Given the description of an element on the screen output the (x, y) to click on. 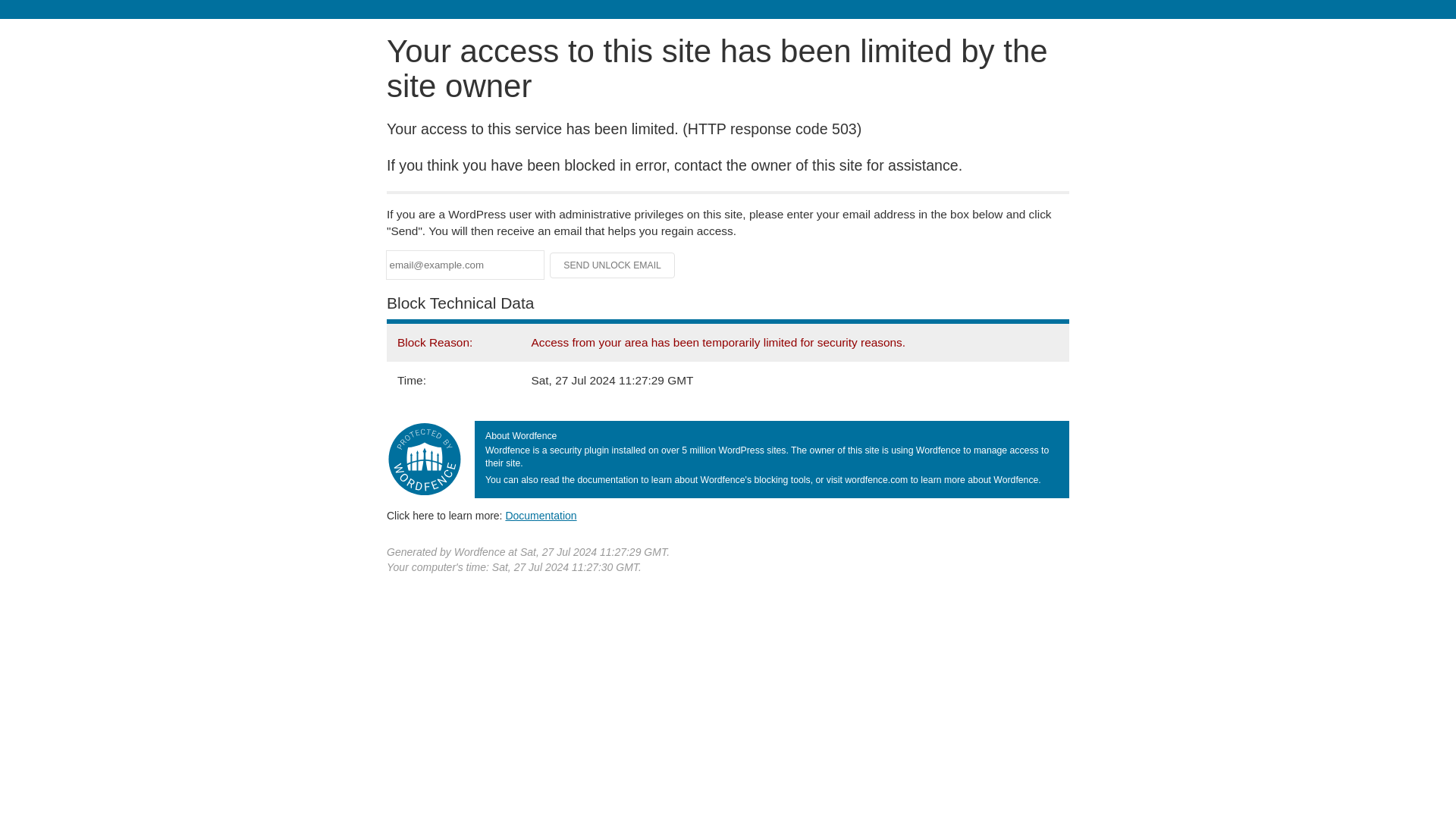
Documentation (540, 515)
Send Unlock Email (612, 265)
Send Unlock Email (612, 265)
